Given the description of an element on the screen output the (x, y) to click on. 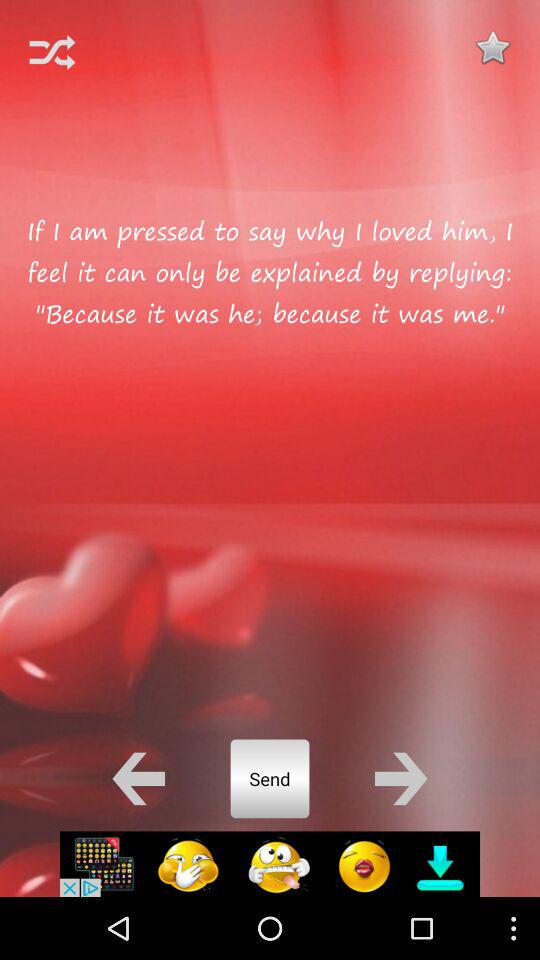
favorite (492, 47)
